Given the description of an element on the screen output the (x, y) to click on. 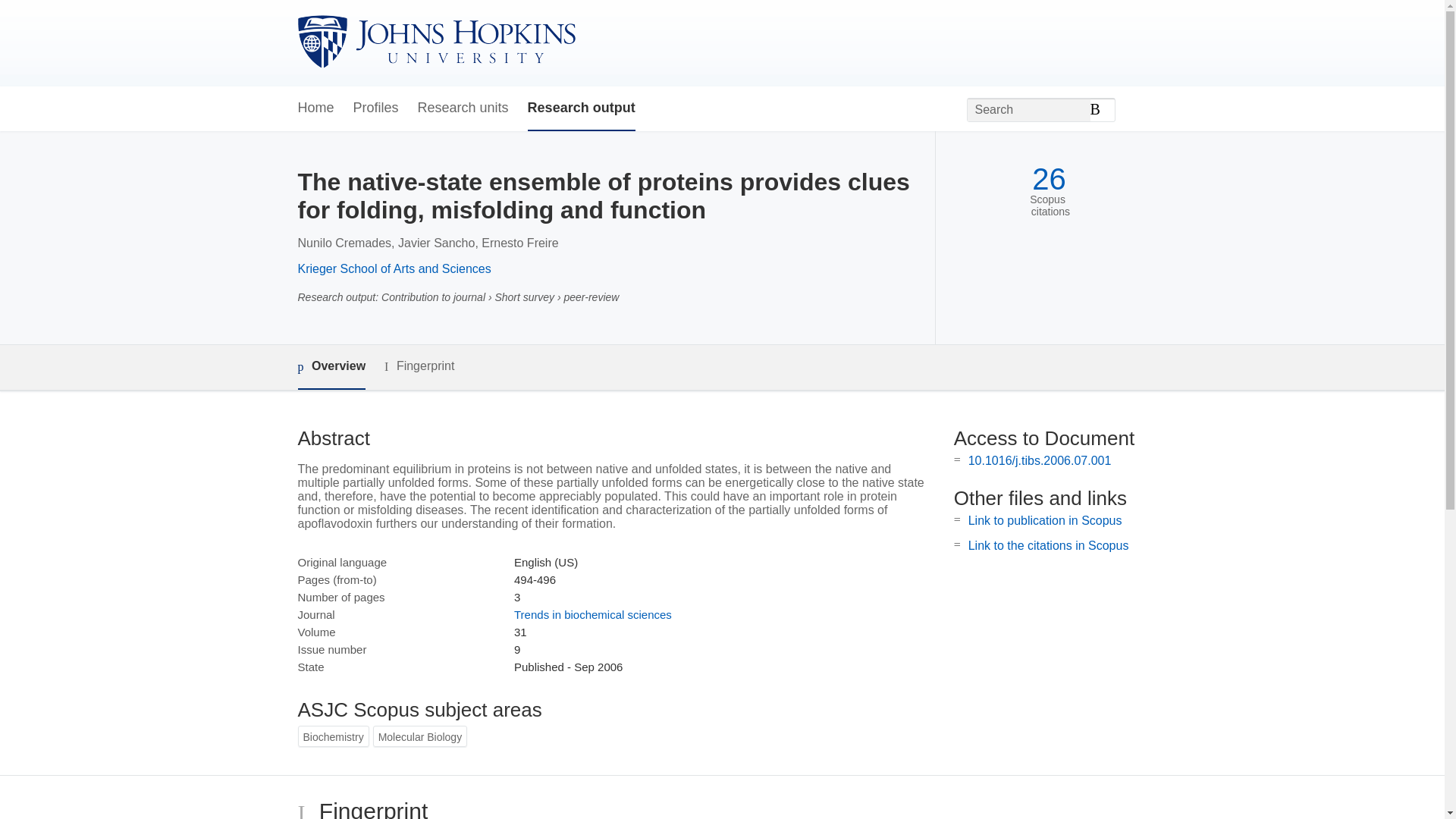
Fingerprint (419, 366)
Krieger School of Arts and Sciences (393, 268)
Trends in biochemical sciences (592, 614)
Research units (462, 108)
Link to the citations in Scopus (1048, 545)
Research output (580, 108)
Johns Hopkins University Home (436, 43)
Overview (331, 366)
Link to publication in Scopus (1045, 520)
26 (1048, 179)
Profiles (375, 108)
